Given the description of an element on the screen output the (x, y) to click on. 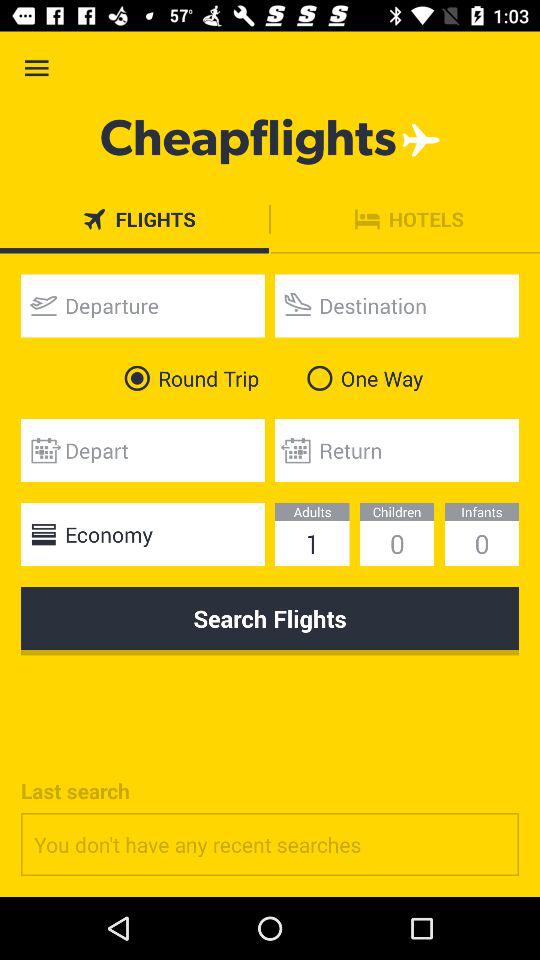
allows the user to choose where they want to travel to (397, 305)
